Given the description of an element on the screen output the (x, y) to click on. 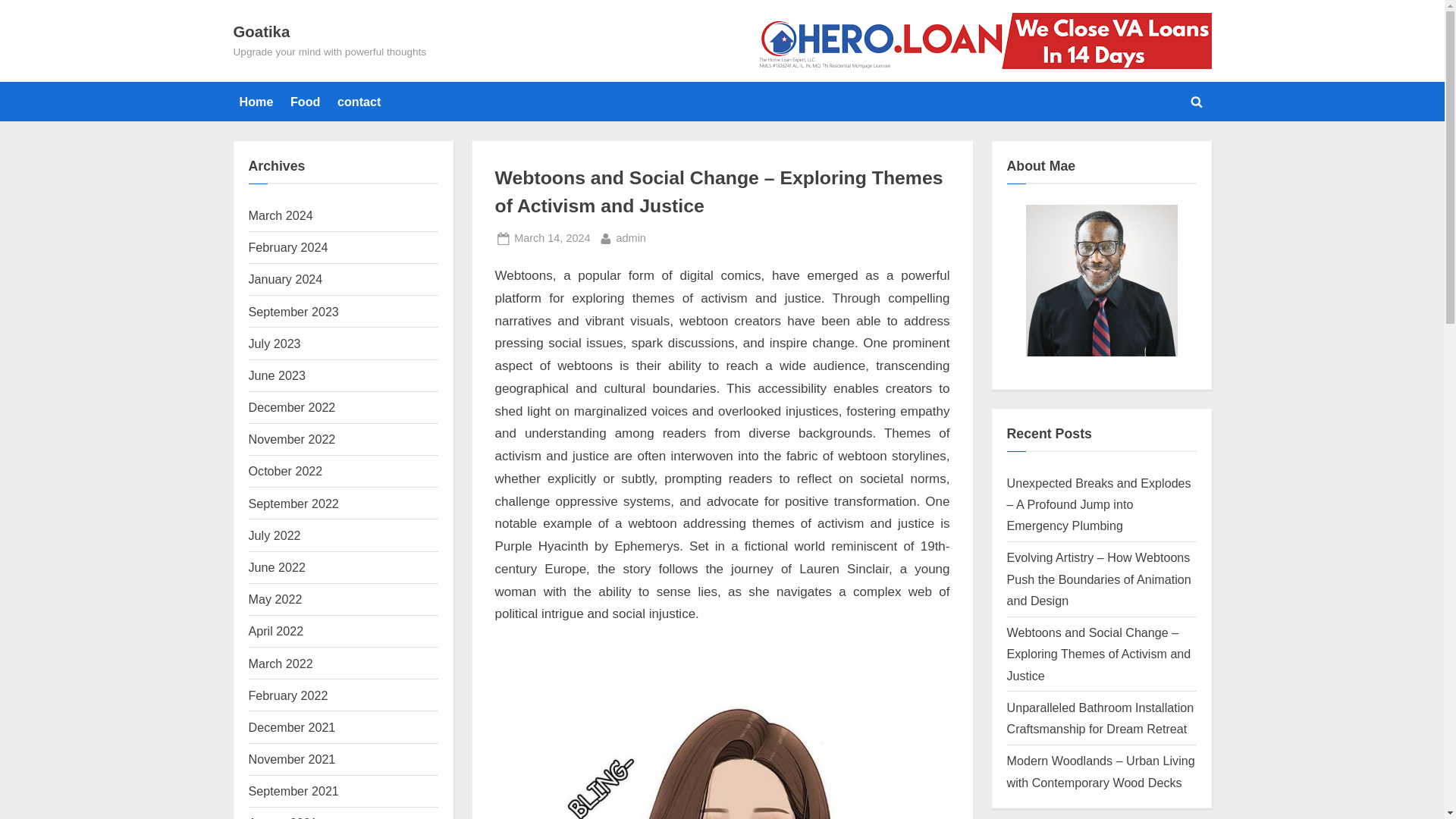
June 2023 (276, 375)
December 2022 (292, 407)
Toggle search form (1196, 101)
April 2022 (276, 631)
March 2022 (280, 663)
November 2022 (292, 438)
contact (359, 101)
March 2024 (280, 214)
February 2022 (288, 694)
November 2021 (292, 758)
September 2023 (293, 311)
September 2022 (293, 503)
Home (255, 101)
February 2024 (288, 246)
May 2022 (275, 599)
